Given the description of an element on the screen output the (x, y) to click on. 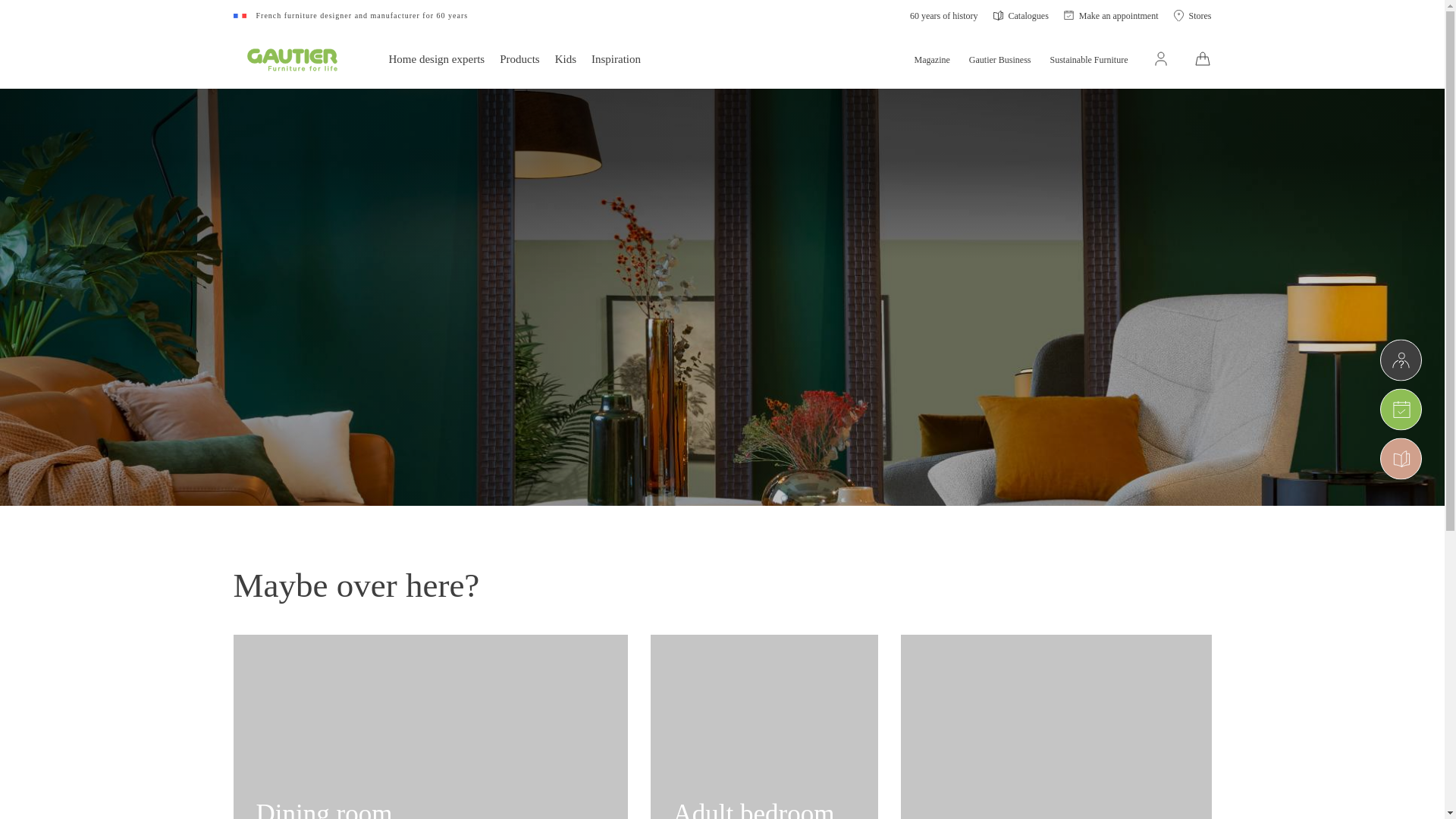
Gautier Business (999, 57)
Your basket (1202, 54)
Make an appointment (1111, 15)
Catalogues (1020, 15)
Sustainable Furniture (1088, 57)
Stores (1192, 15)
Account (1160, 57)
Home design experts (436, 57)
